Given the description of an element on the screen output the (x, y) to click on. 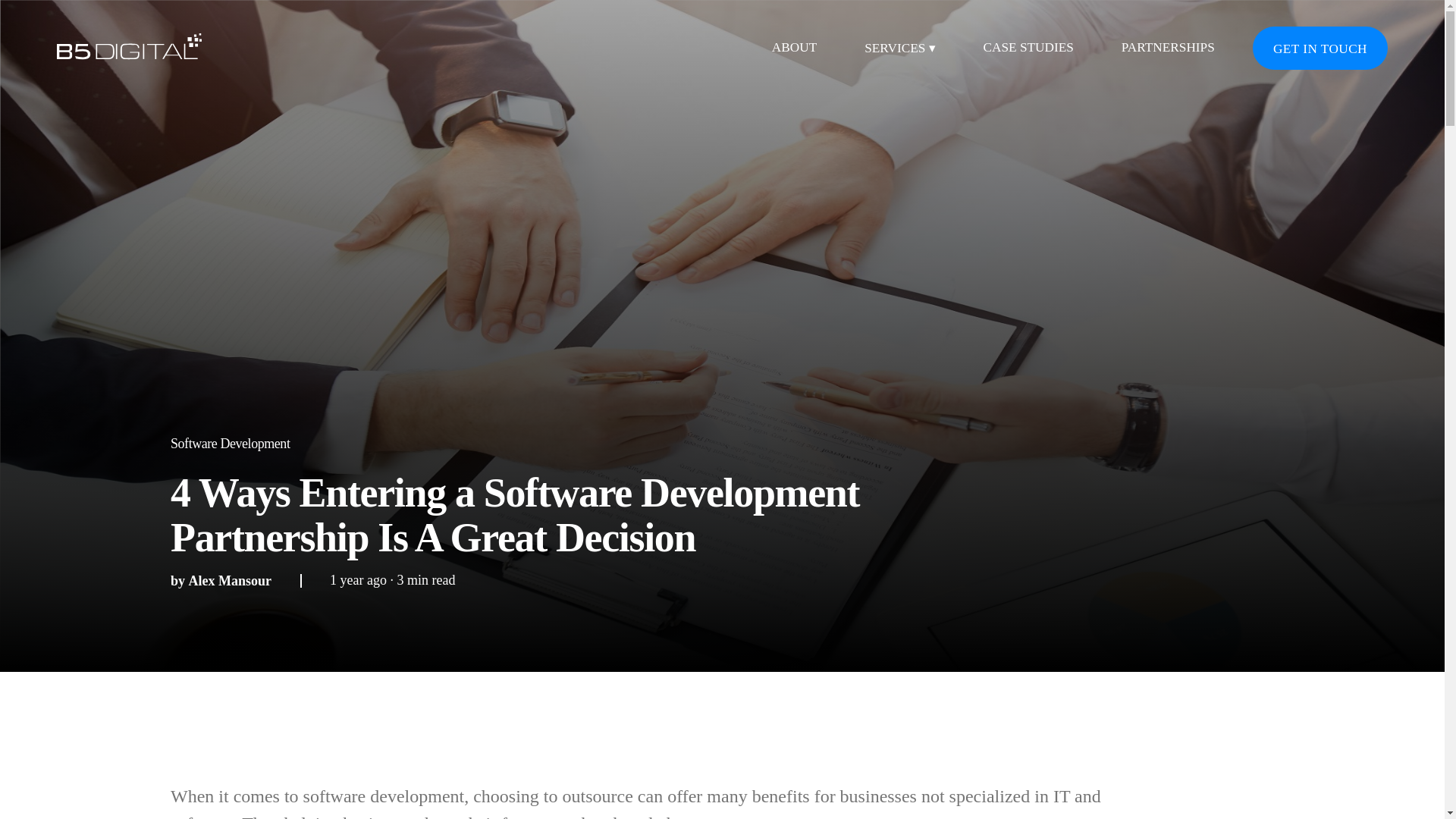
CASE STUDIES (1028, 47)
ABOUT (794, 47)
GET IN TOUCH (1319, 47)
PARTNERSHIPS (1168, 47)
